Given the description of an element on the screen output the (x, y) to click on. 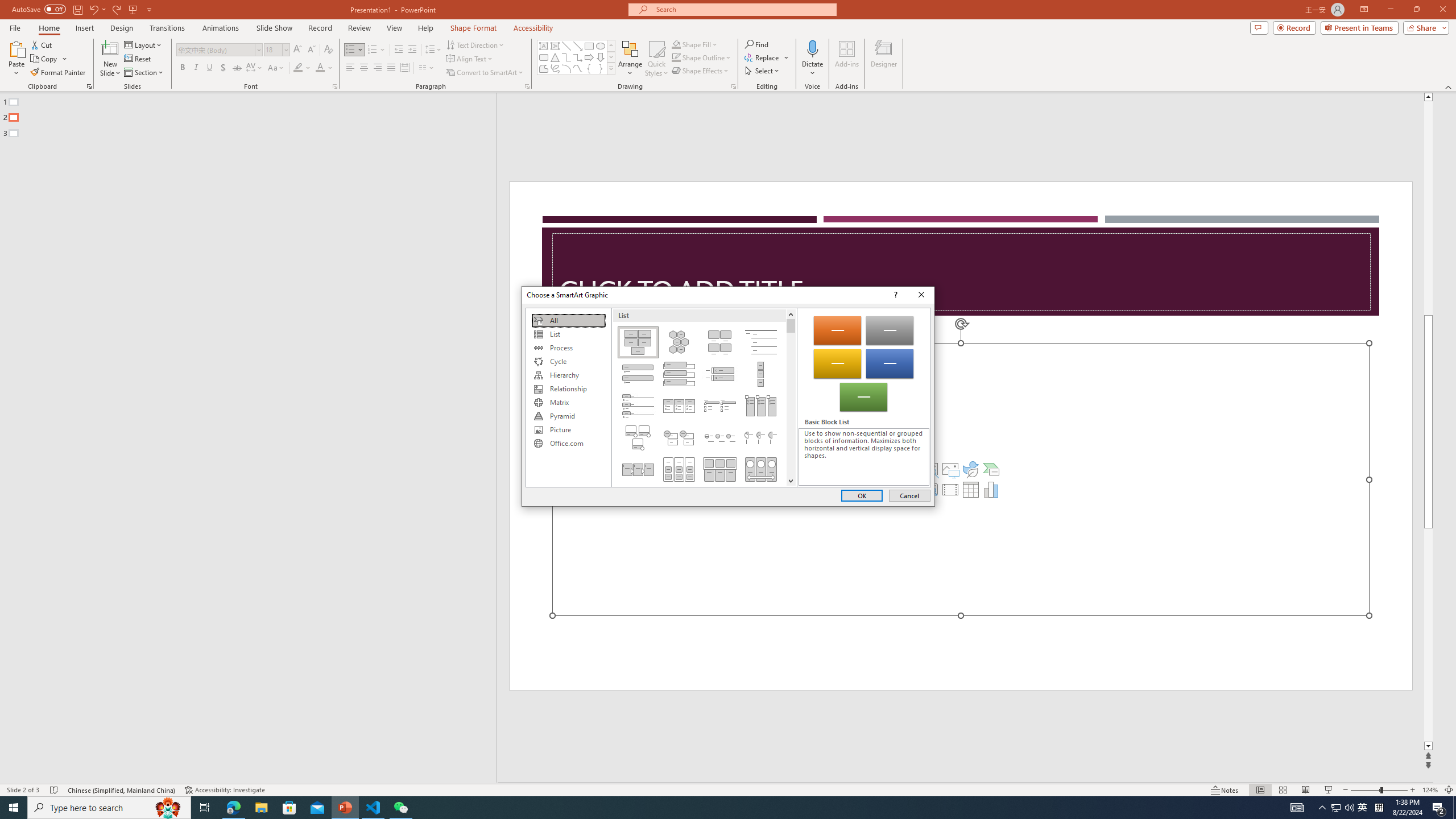
Square Accent List (719, 405)
Alternating Hexagons (678, 342)
